Given the description of an element on the screen output the (x, y) to click on. 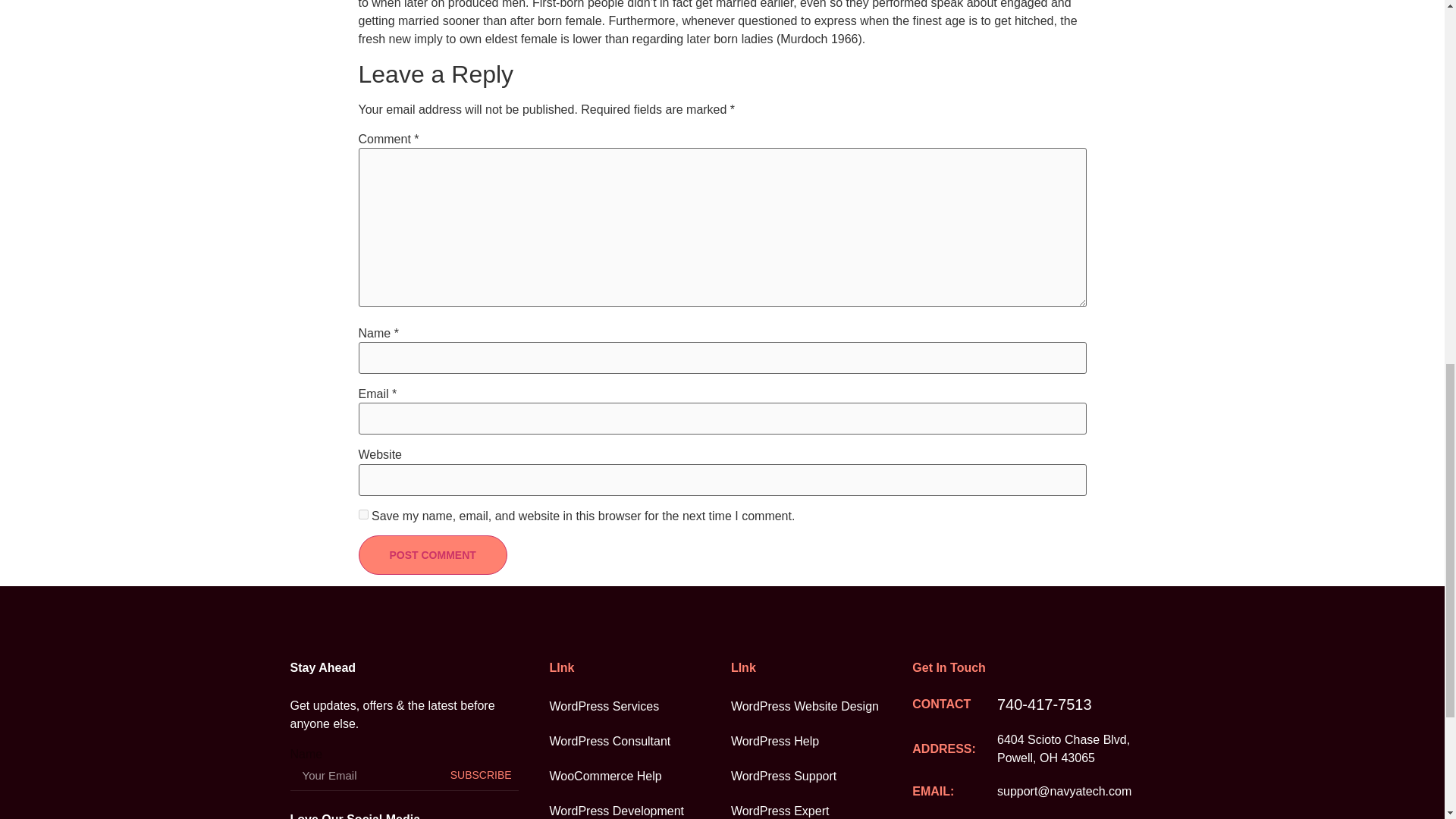
WordPress Website Design (821, 706)
Post Comment (432, 554)
WordPress Services (639, 706)
WordPress Development (639, 806)
WordPress Support (821, 776)
SUBSCRIBE (480, 775)
WordPress Consultant (639, 741)
yes (363, 514)
WooCommerce Help (639, 776)
Post Comment (432, 554)
WordPress Help (821, 741)
WordPress Expert (821, 806)
